Given the description of an element on the screen output the (x, y) to click on. 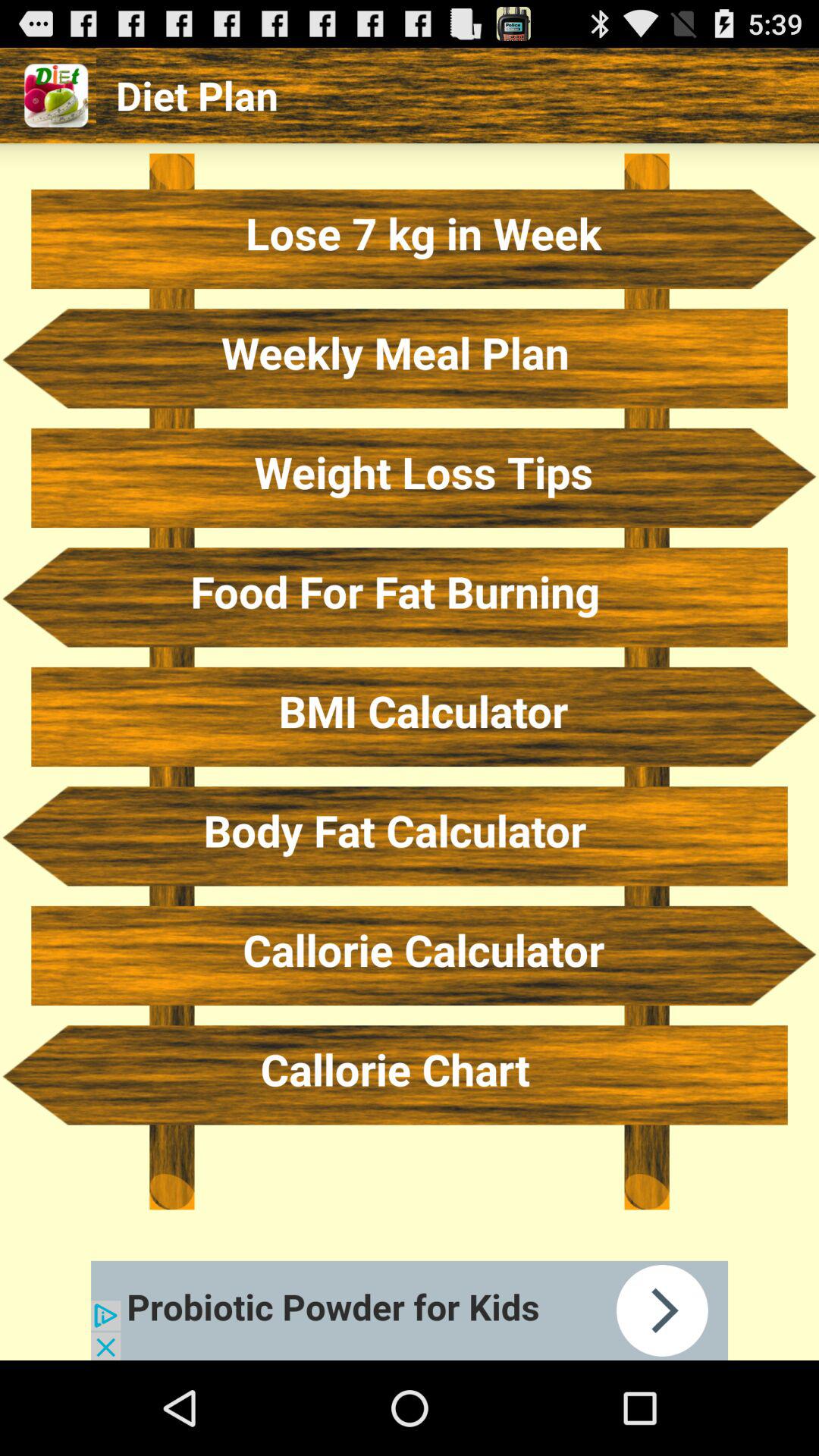
sponsored advertisement (409, 1310)
